Given the description of an element on the screen output the (x, y) to click on. 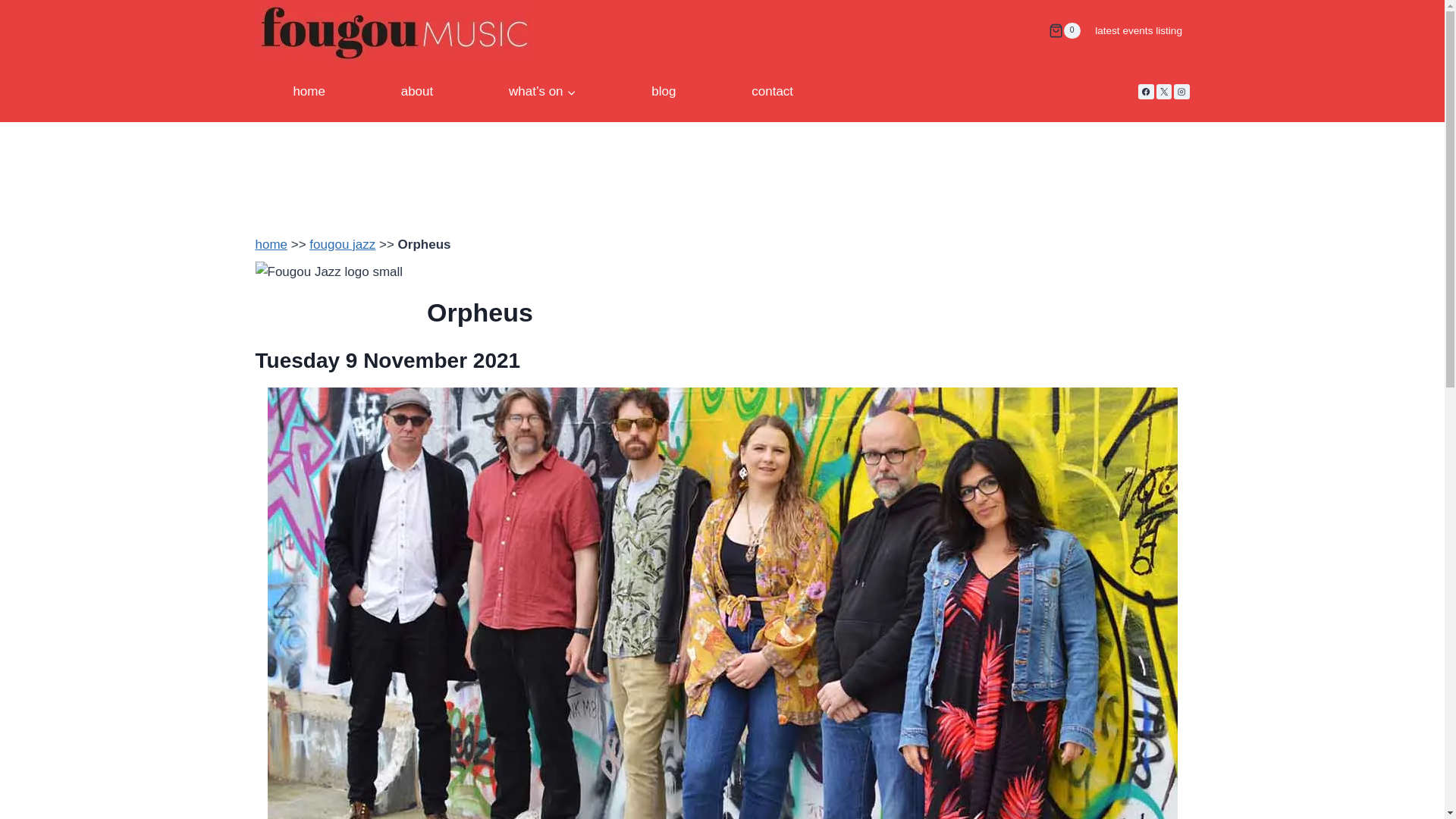
fougou jazz (341, 244)
0 (1064, 30)
blog (662, 91)
home (308, 91)
about (416, 91)
latest events listing (1138, 30)
home (270, 244)
contact (772, 91)
